Given the description of an element on the screen output the (x, y) to click on. 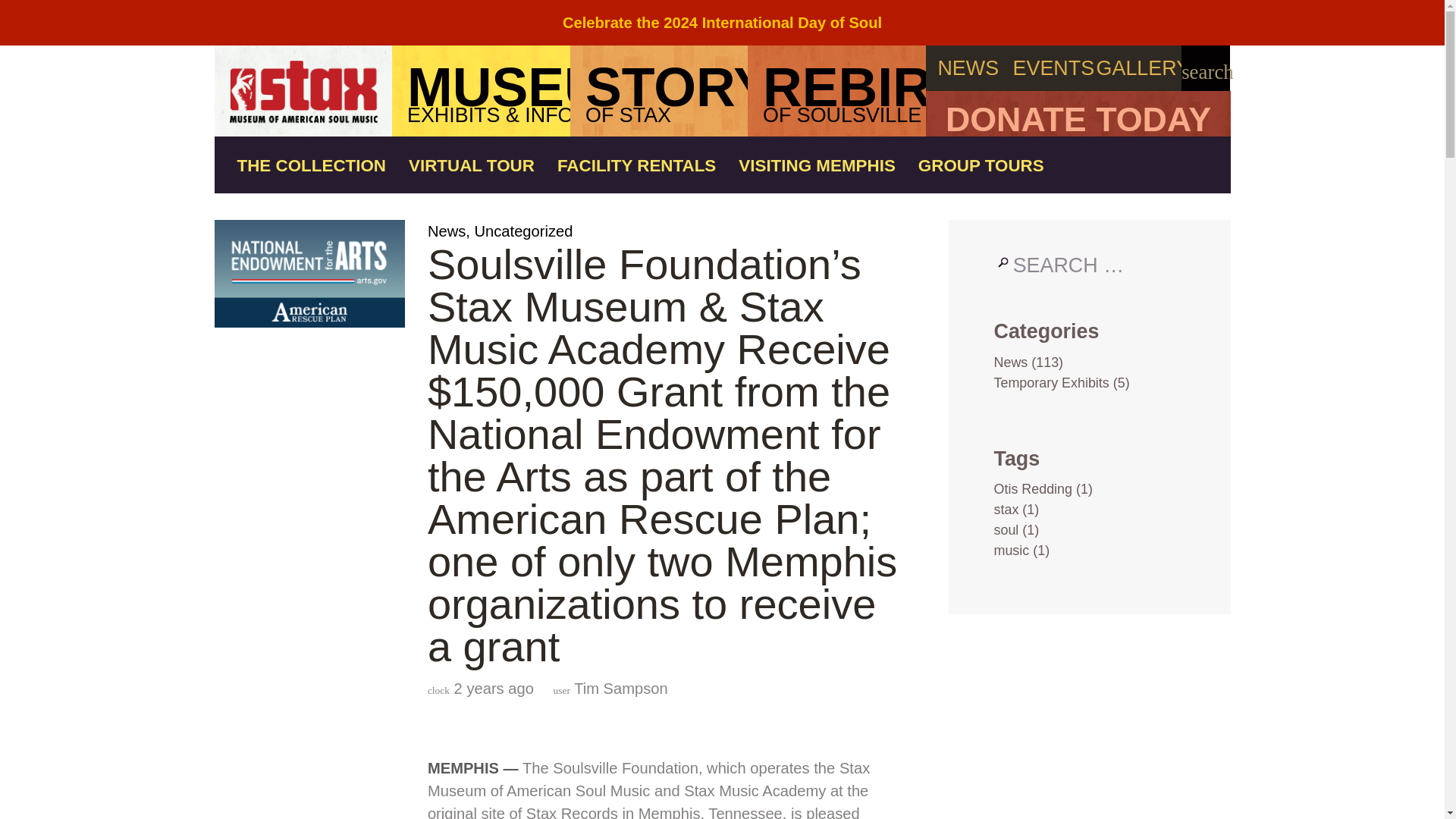
News (446, 230)
Celebrate the 2024 International Day of Soul (837, 90)
Uncategorized (722, 22)
News (659, 90)
NEWS (523, 230)
DONATE TODAY (1009, 362)
EVENTS (967, 67)
GALLERY (1077, 113)
GROUP TOURS (1053, 67)
VIRTUAL TOUR (1139, 67)
RESOURCES FOR EDUCATORS (981, 166)
THE COLLECTION (471, 166)
Temporary Exhibits (1077, 203)
